Given the description of an element on the screen output the (x, y) to click on. 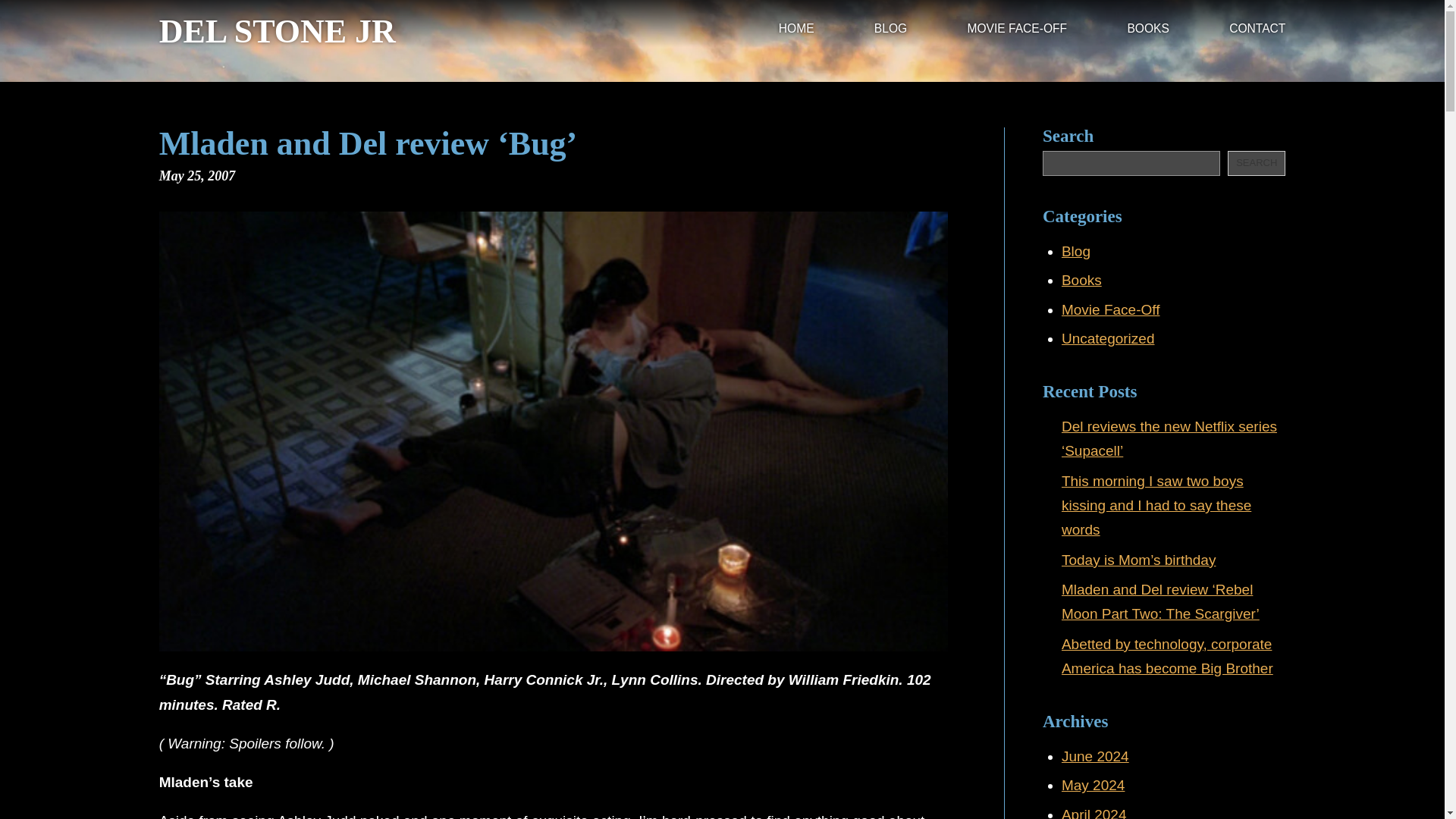
HOME (795, 29)
CONTACT (1256, 29)
May 2024 (1092, 785)
MOVIE FACE-OFF (1016, 29)
DEL STONE JR (277, 32)
BOOKS (1147, 29)
Movie Face-Off (1110, 309)
SEARCH (1256, 163)
June 2024 (1095, 756)
April 2024 (1093, 812)
Blog (1075, 251)
Books (1081, 279)
Uncategorized (1107, 338)
